Given the description of an element on the screen output the (x, y) to click on. 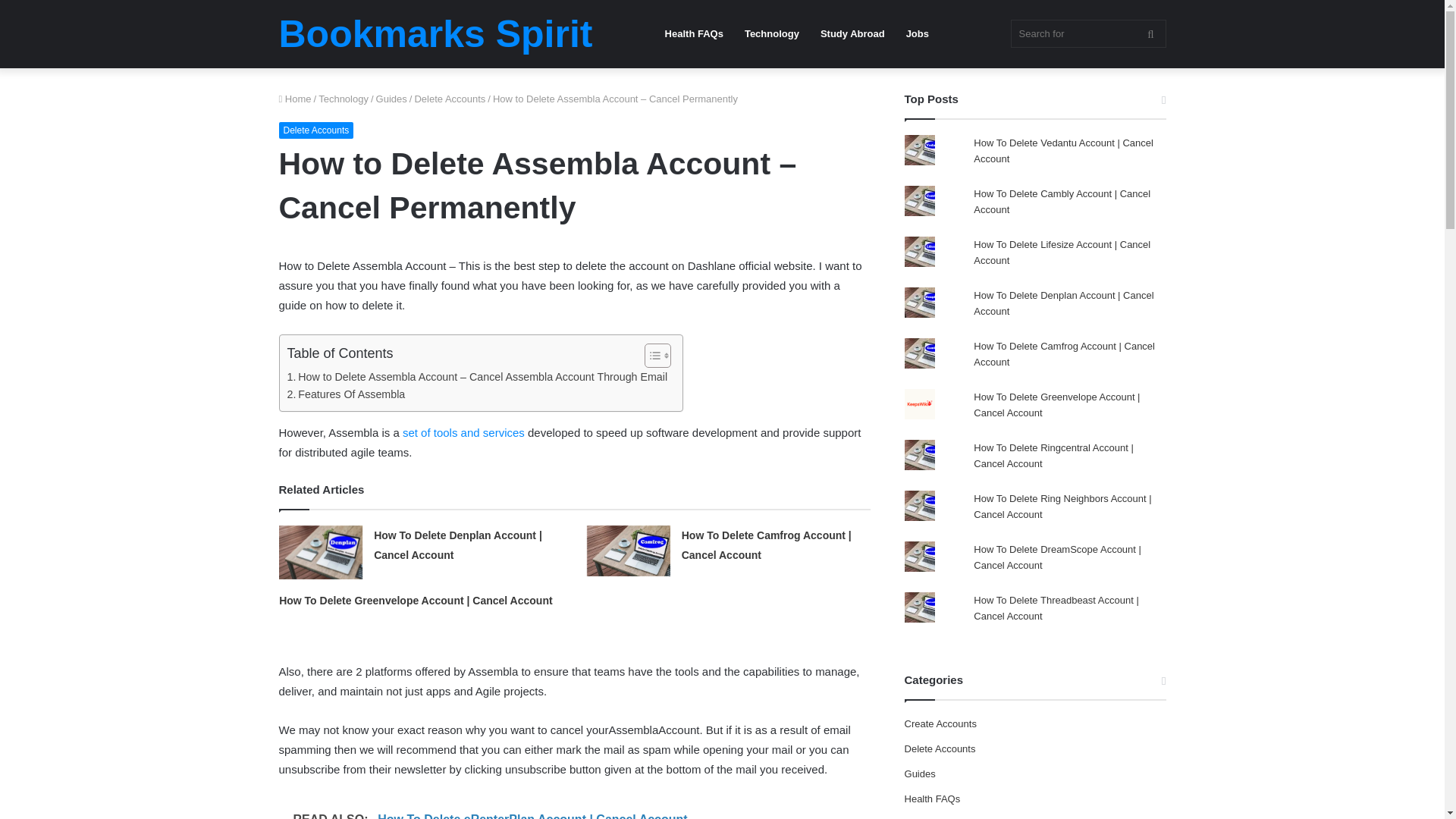
Health FAQs (693, 33)
Delete Accounts (448, 98)
Delete Accounts (316, 130)
Technology (771, 33)
Home (295, 98)
Search for (1088, 33)
Bookmarks Spirit (435, 34)
Features Of Assembla (345, 394)
Technology (343, 98)
Guides (391, 98)
